Given the description of an element on the screen output the (x, y) to click on. 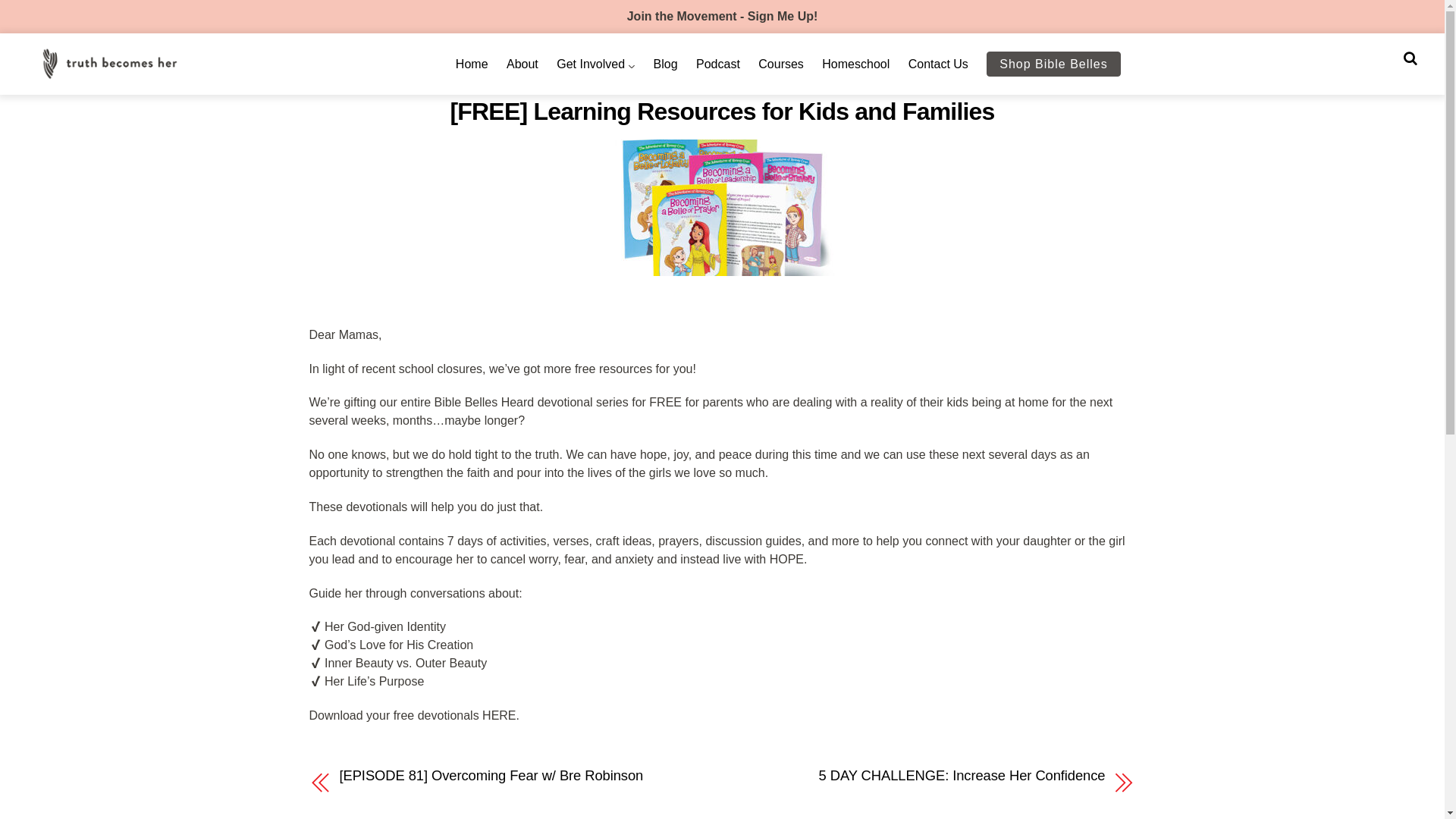
Blog (665, 63)
Search (1409, 57)
Truth Becomes Her (109, 72)
Homeschool (855, 63)
About (522, 63)
5 DAY CHALLENGE: Increase Her Confidence (925, 775)
Courses (780, 63)
Contact Us (938, 63)
Join the Movement - Sign Me Up! (722, 16)
Get Involved (595, 63)
